Given the description of an element on the screen output the (x, y) to click on. 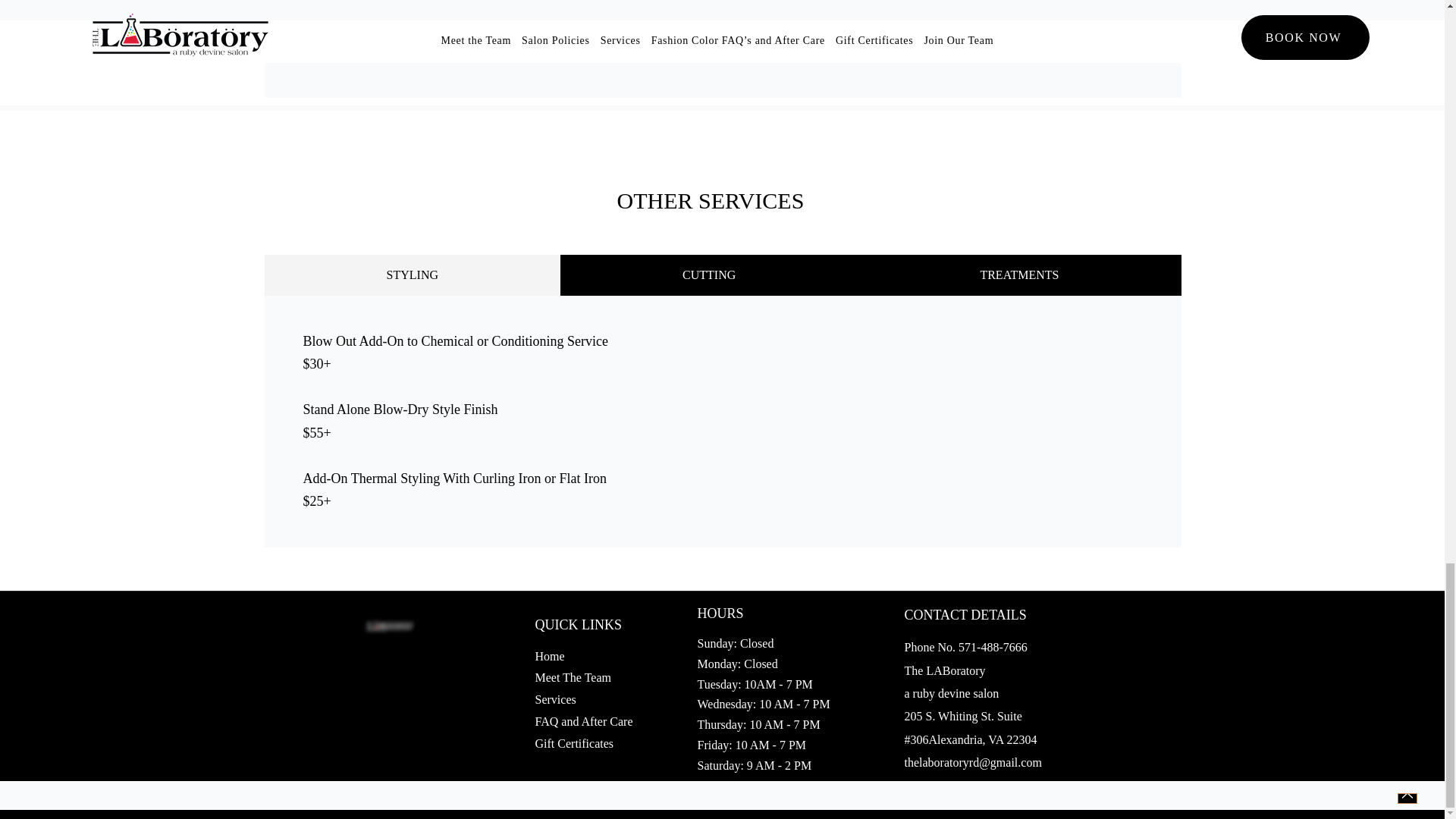
Phone No. 571-488-7666 (965, 646)
FAQ and After Care (584, 721)
Meet The Team (573, 676)
Home (549, 656)
Gift Certificates  (576, 743)
Services (555, 698)
